Given the description of an element on the screen output the (x, y) to click on. 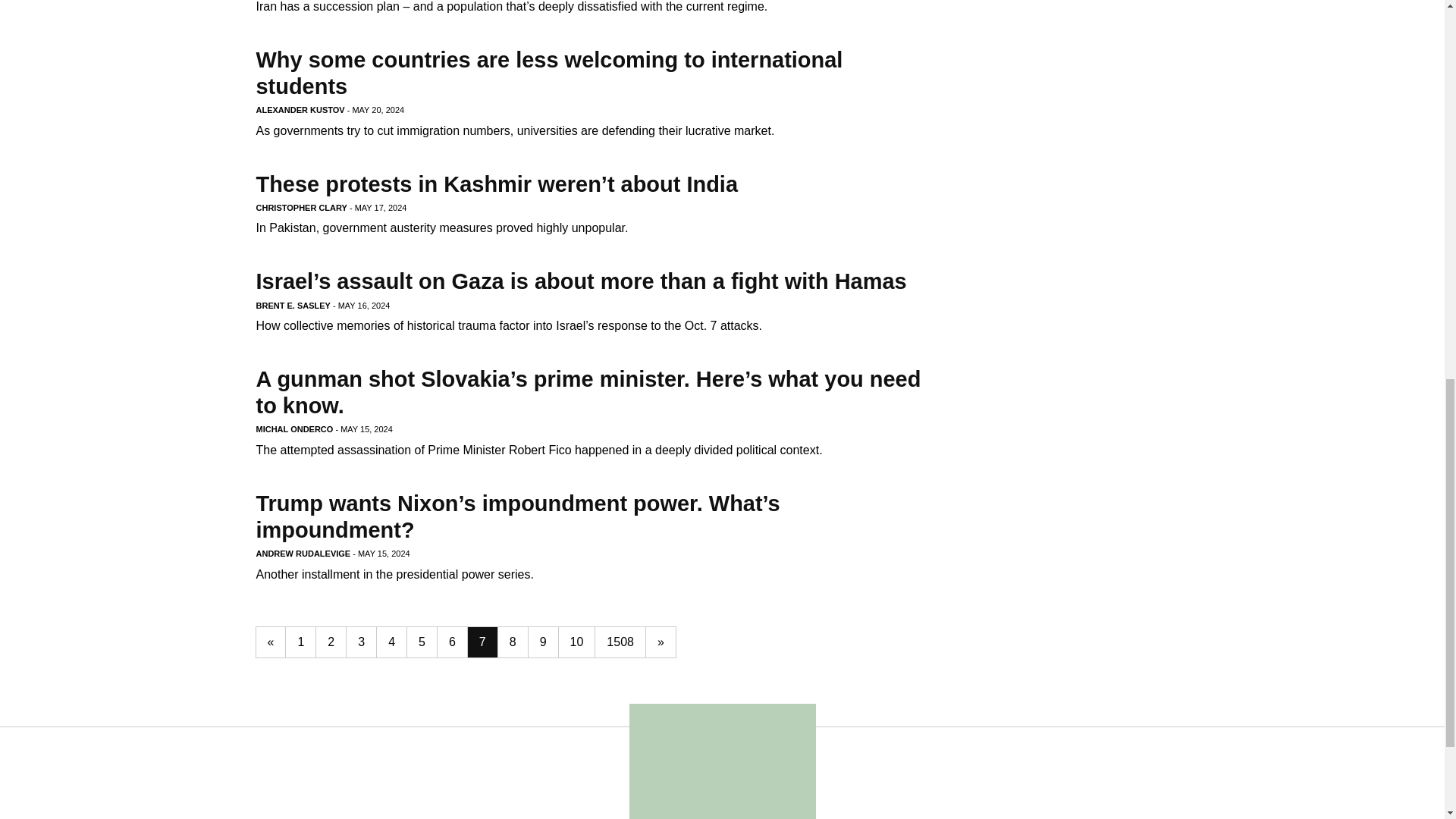
CHRISTOPHER CLARY (301, 207)
ALEXANDER KUSTOV (300, 109)
MICHAL ONDERCO (294, 429)
BRENT E. SASLEY (293, 305)
